Given the description of an element on the screen output the (x, y) to click on. 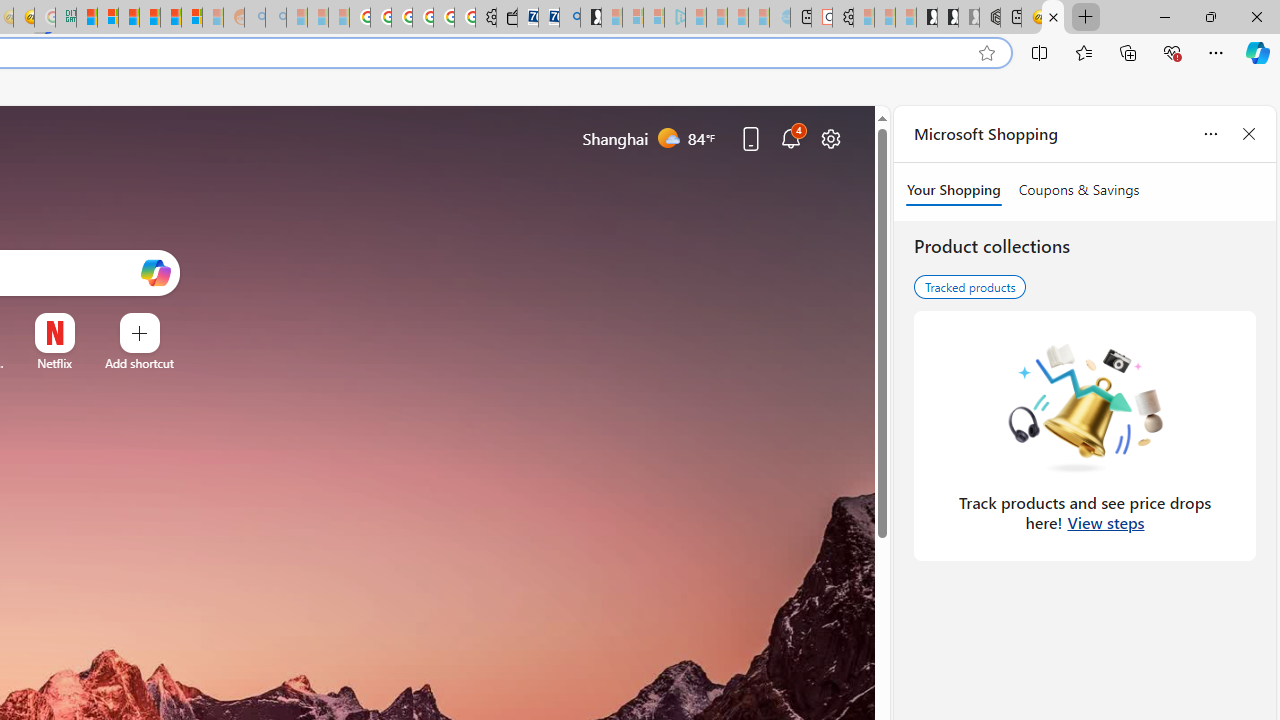
Page settings (831, 138)
Add a site (139, 363)
